Given the description of an element on the screen output the (x, y) to click on. 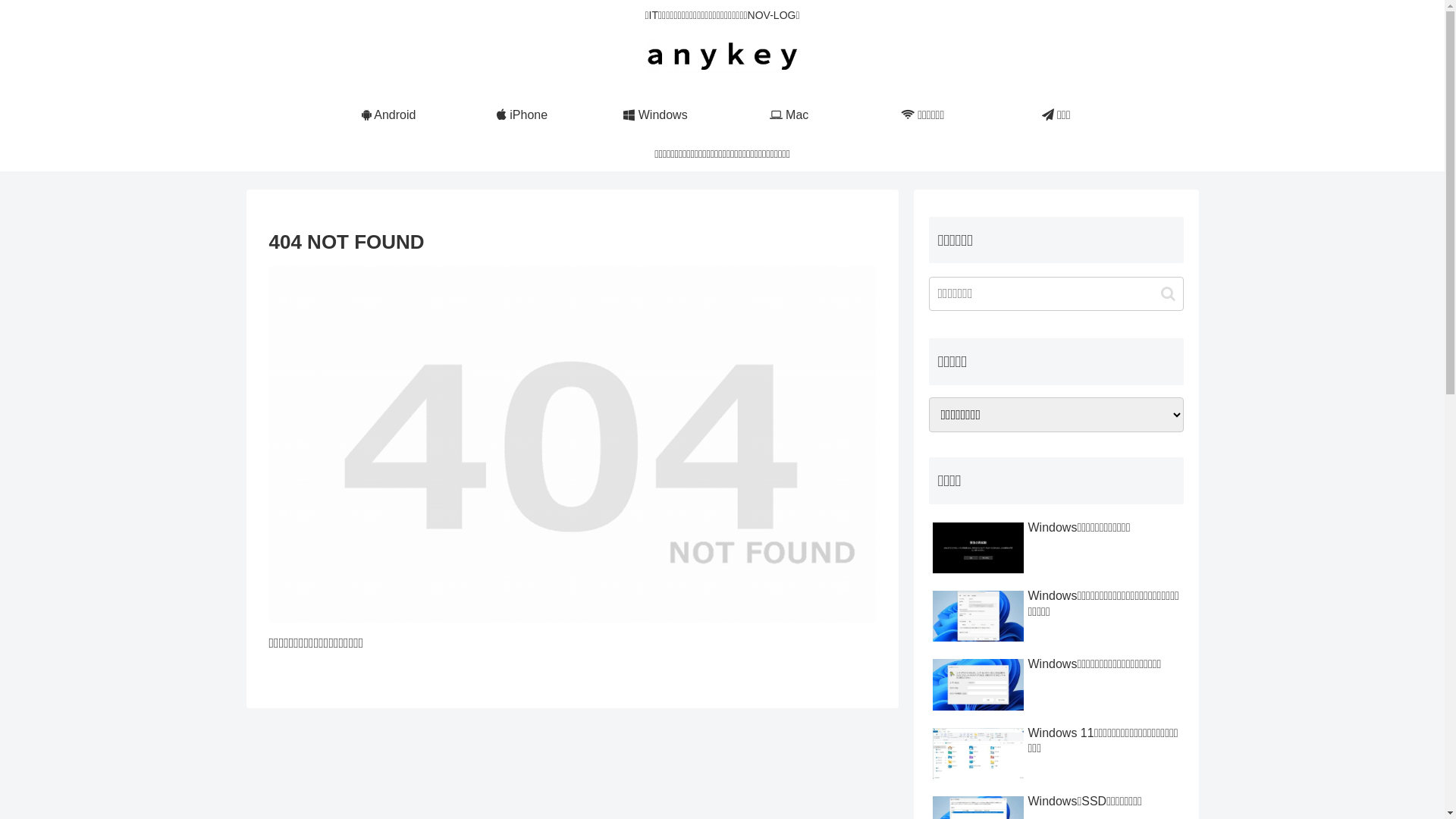
iPhone Element type: text (521, 115)
Mac Element type: text (788, 115)
Windows Element type: text (654, 115)
Android Element type: text (388, 115)
